Given the description of an element on the screen output the (x, y) to click on. 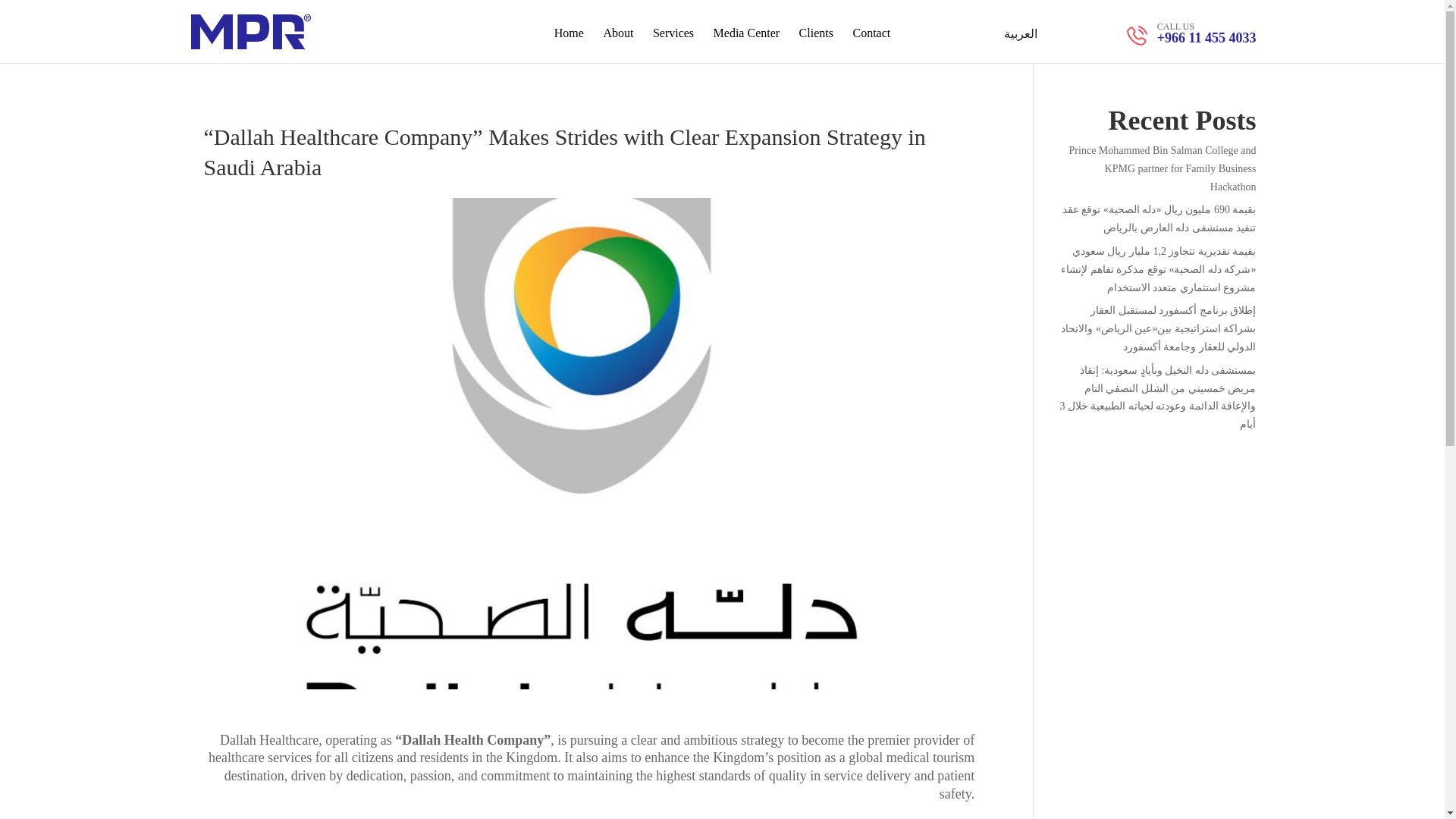
Services (673, 45)
Arabic (1020, 33)
Media Center (746, 45)
Contact (870, 45)
Clients (815, 45)
